Given the description of an element on the screen output the (x, y) to click on. 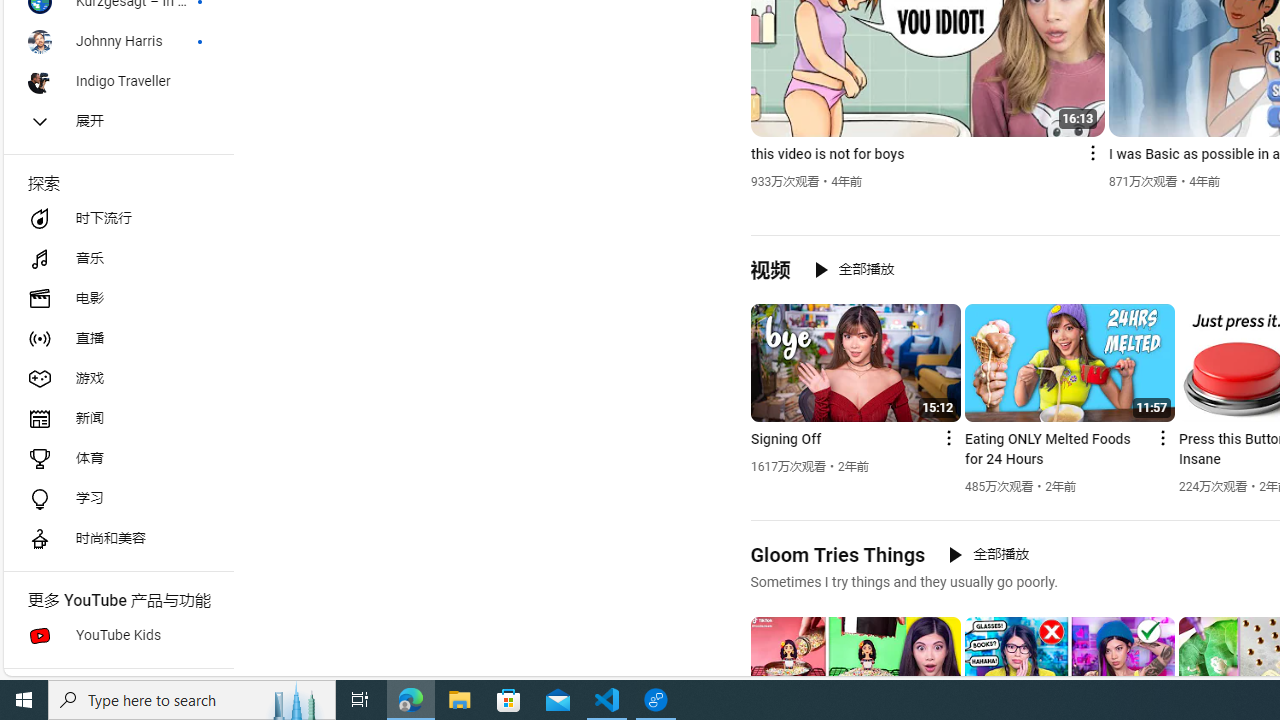
Gloom Tries Things (837, 554)
Indigo Traveller (117, 81)
YouTube Kids (117, 635)
